Given the description of an element on the screen output the (x, y) to click on. 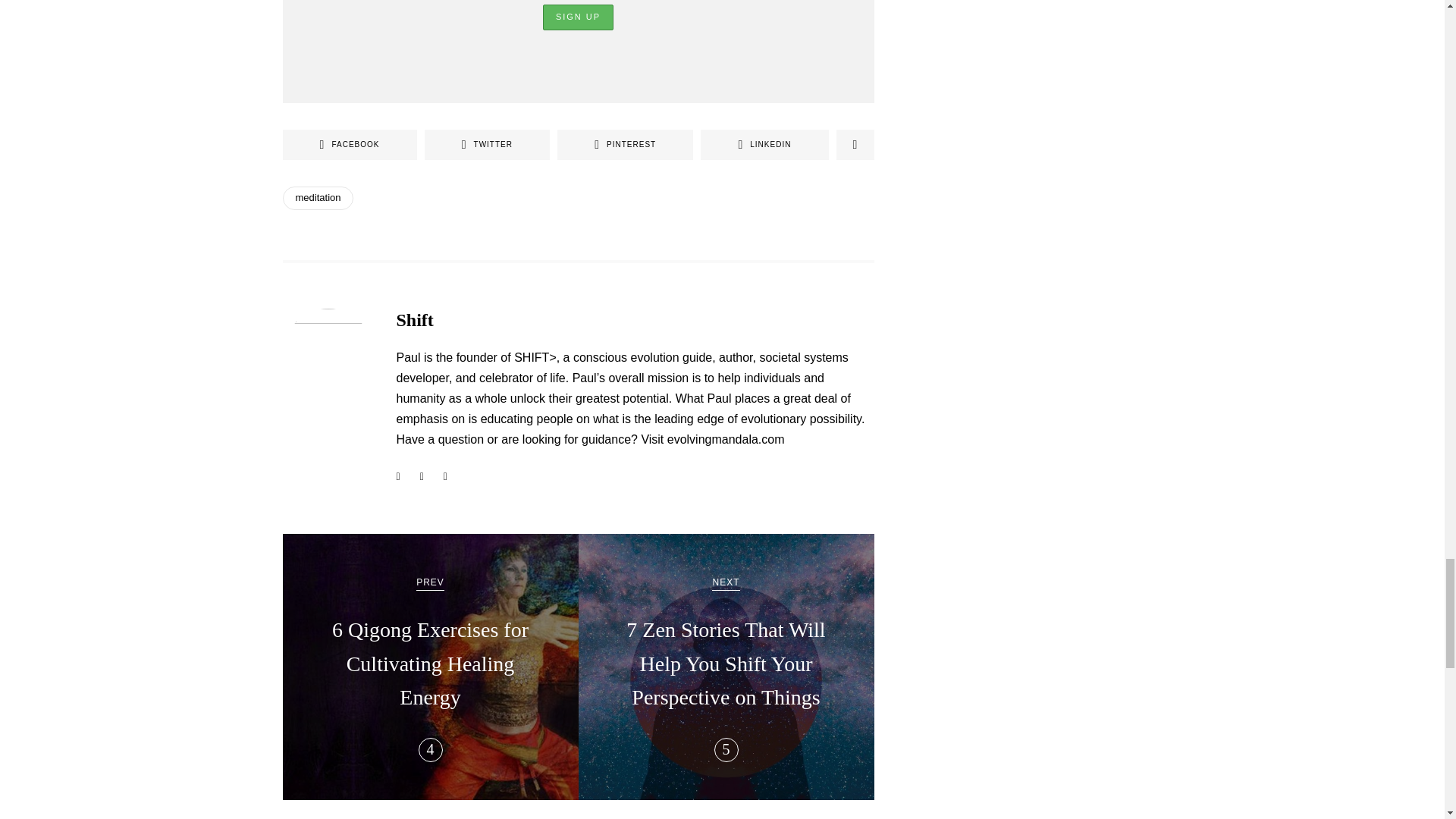
Sign up (577, 17)
Twitter (487, 144)
Sign up (577, 17)
Facebook (349, 144)
Pinterest (625, 144)
FACEBOOK (349, 144)
